Given the description of an element on the screen output the (x, y) to click on. 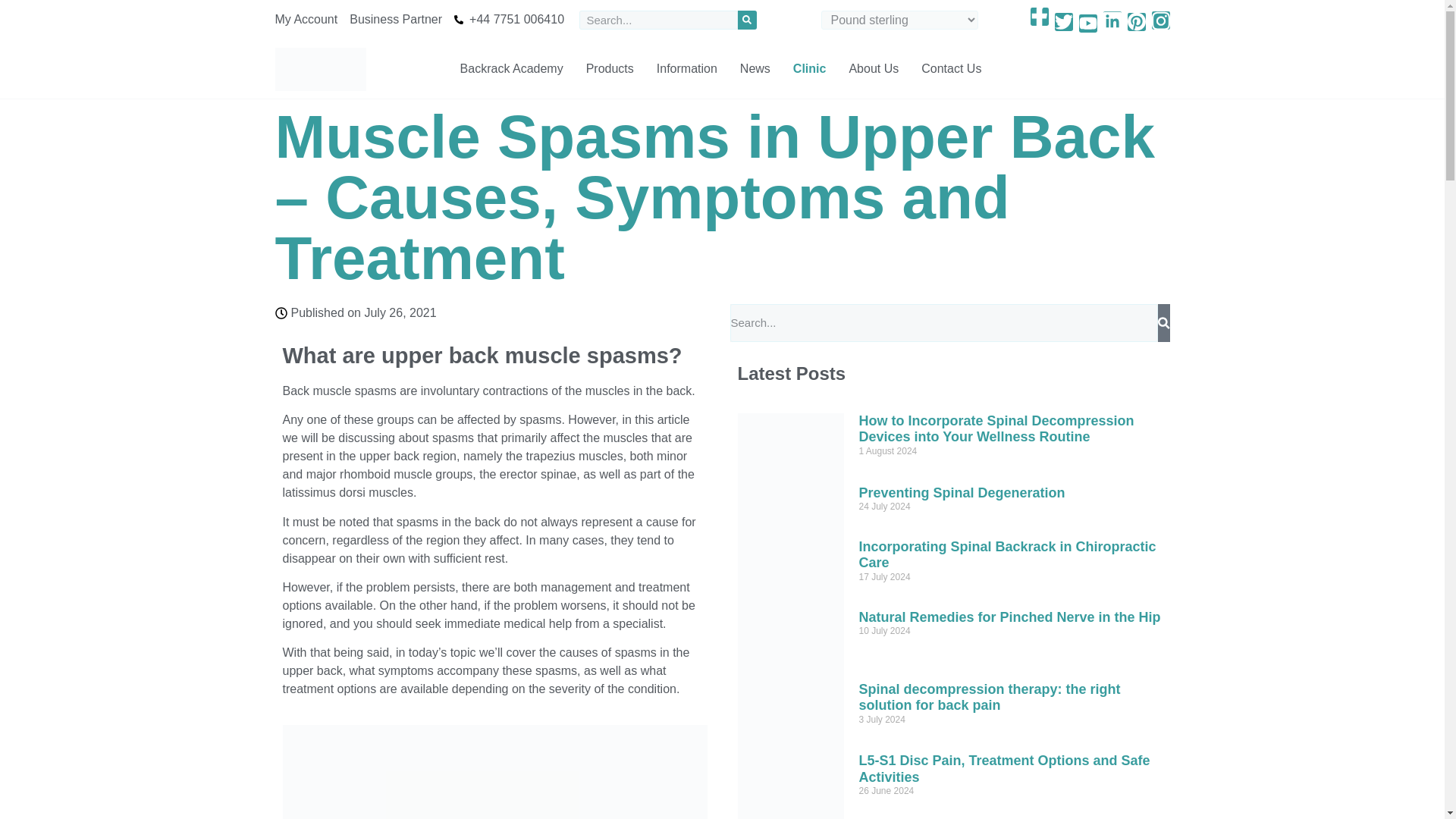
Products (610, 68)
My Account (306, 19)
Backrack Academy (511, 68)
Information (687, 68)
News (755, 68)
Business Partner (395, 19)
Clinic (809, 68)
